Given the description of an element on the screen output the (x, y) to click on. 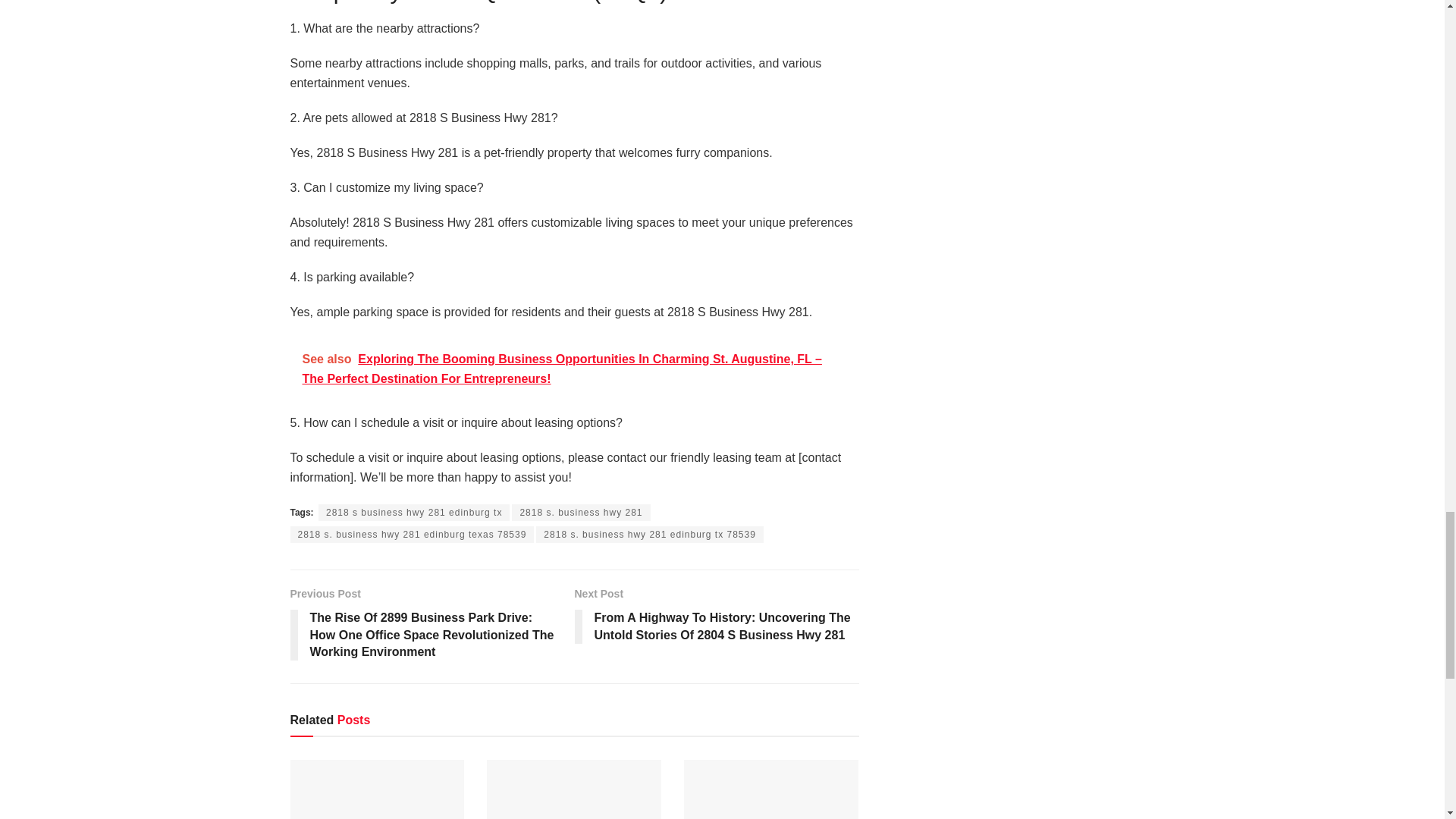
2818 s business hwy 281 edinburg tx (413, 512)
2818 s. business hwy 281 edinburg texas 78539 (411, 534)
2818 s. business hwy 281 edinburg tx 78539 (648, 534)
2818 s. business hwy 281 (580, 512)
